Given the description of an element on the screen output the (x, y) to click on. 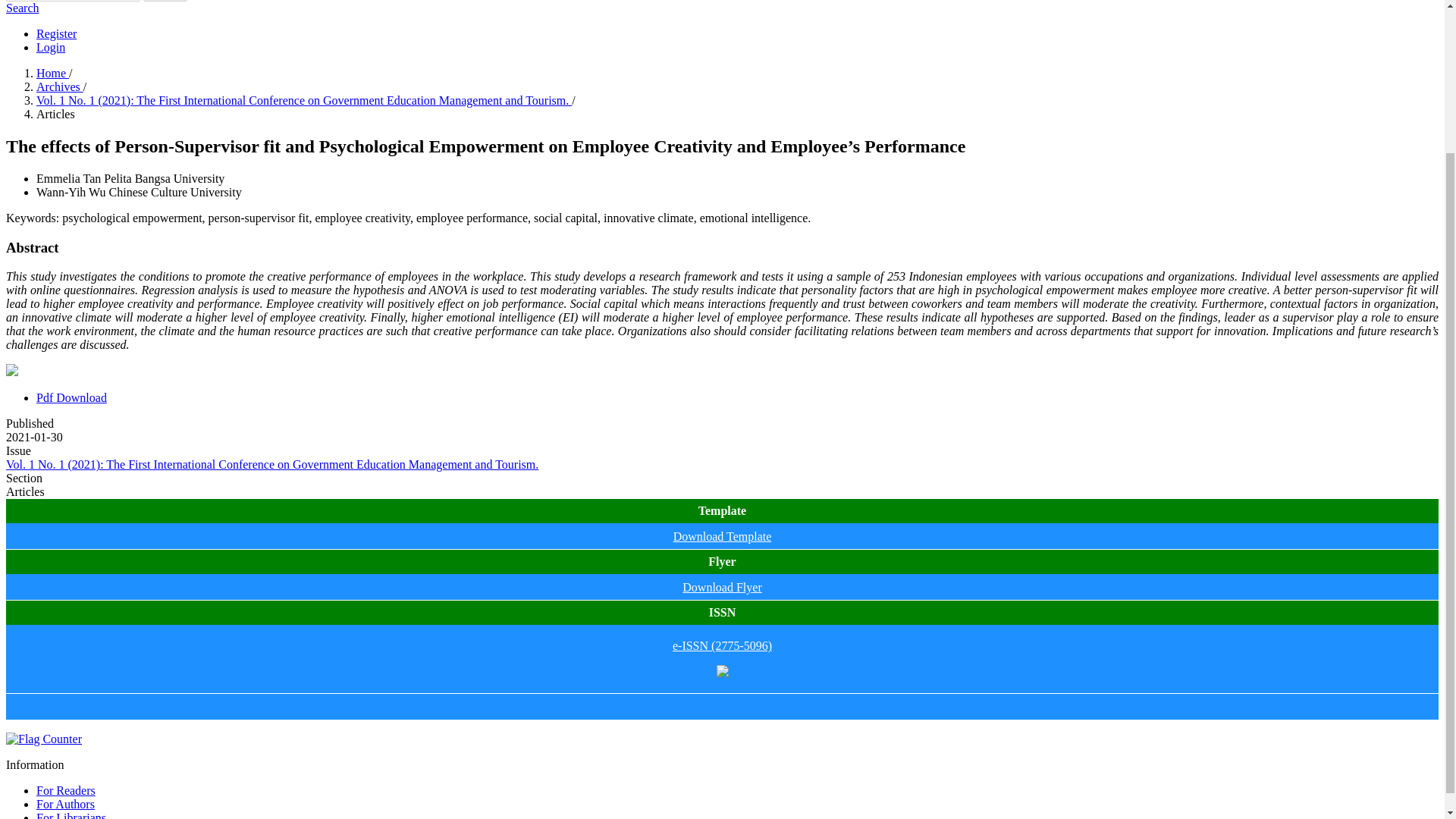
Home (52, 72)
For Readers (66, 789)
Pdf Download (71, 397)
Register (56, 33)
Search (164, 0)
Login (50, 47)
Search (22, 7)
For Authors (65, 803)
Archives (59, 86)
